Given the description of an element on the screen output the (x, y) to click on. 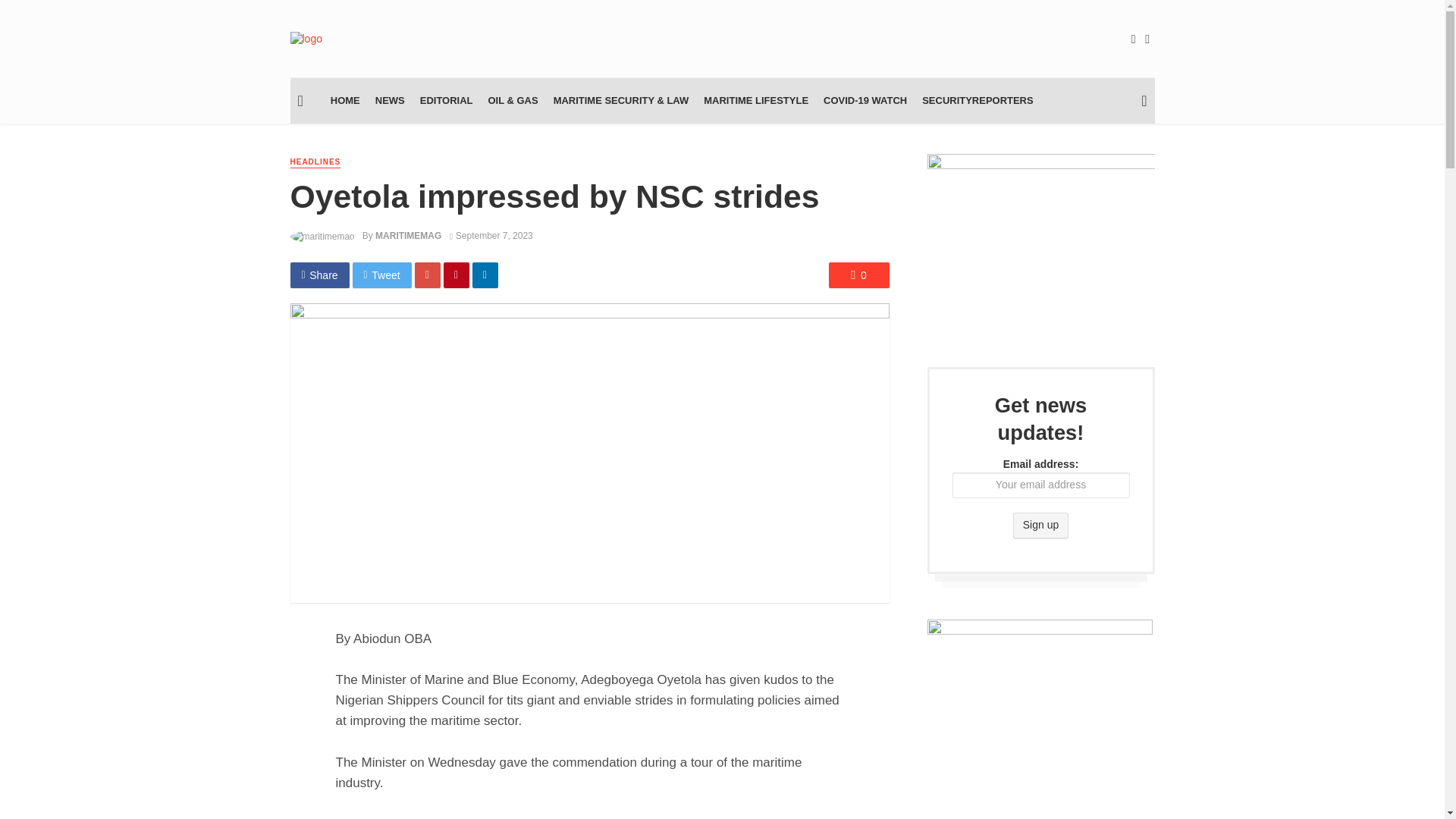
EDITORIAL (446, 100)
MARITIMEMAG (408, 235)
0 (858, 275)
Posts by maritimemag (408, 235)
COVID-19 WATCH (864, 100)
Share on Twitter (382, 275)
HEADLINES (314, 162)
September 7, 2023 at 12:02 am (490, 235)
HOME (345, 100)
Share on Facebook (319, 275)
Share (319, 275)
Tweet (382, 275)
Share on Linkedin (484, 275)
Sign up (1040, 525)
MARITIME LIFESTYLE (755, 100)
